Given the description of an element on the screen output the (x, y) to click on. 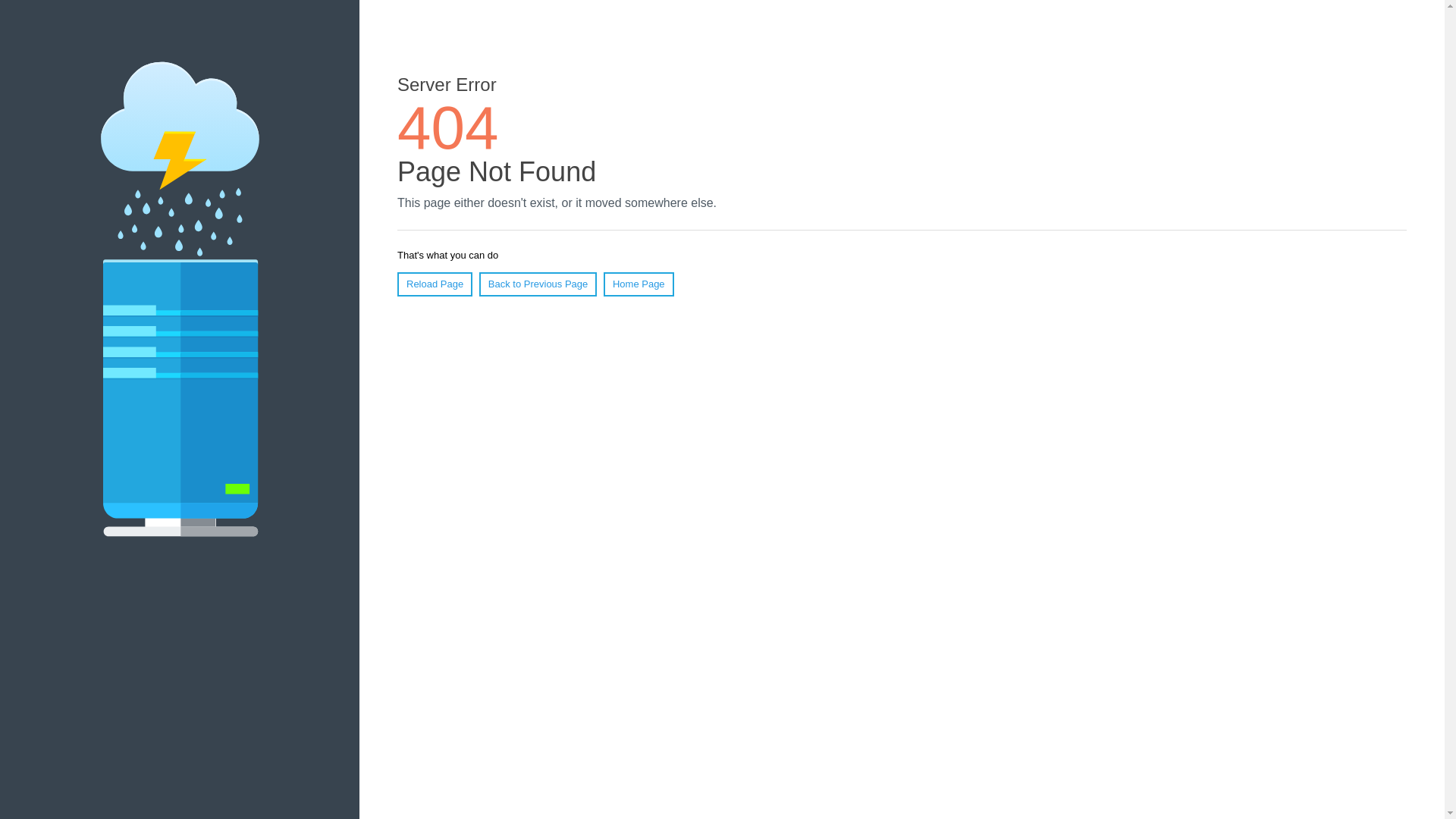
Home Page Element type: text (638, 284)
Back to Previous Page Element type: text (538, 284)
Reload Page Element type: text (434, 284)
